Given the description of an element on the screen output the (x, y) to click on. 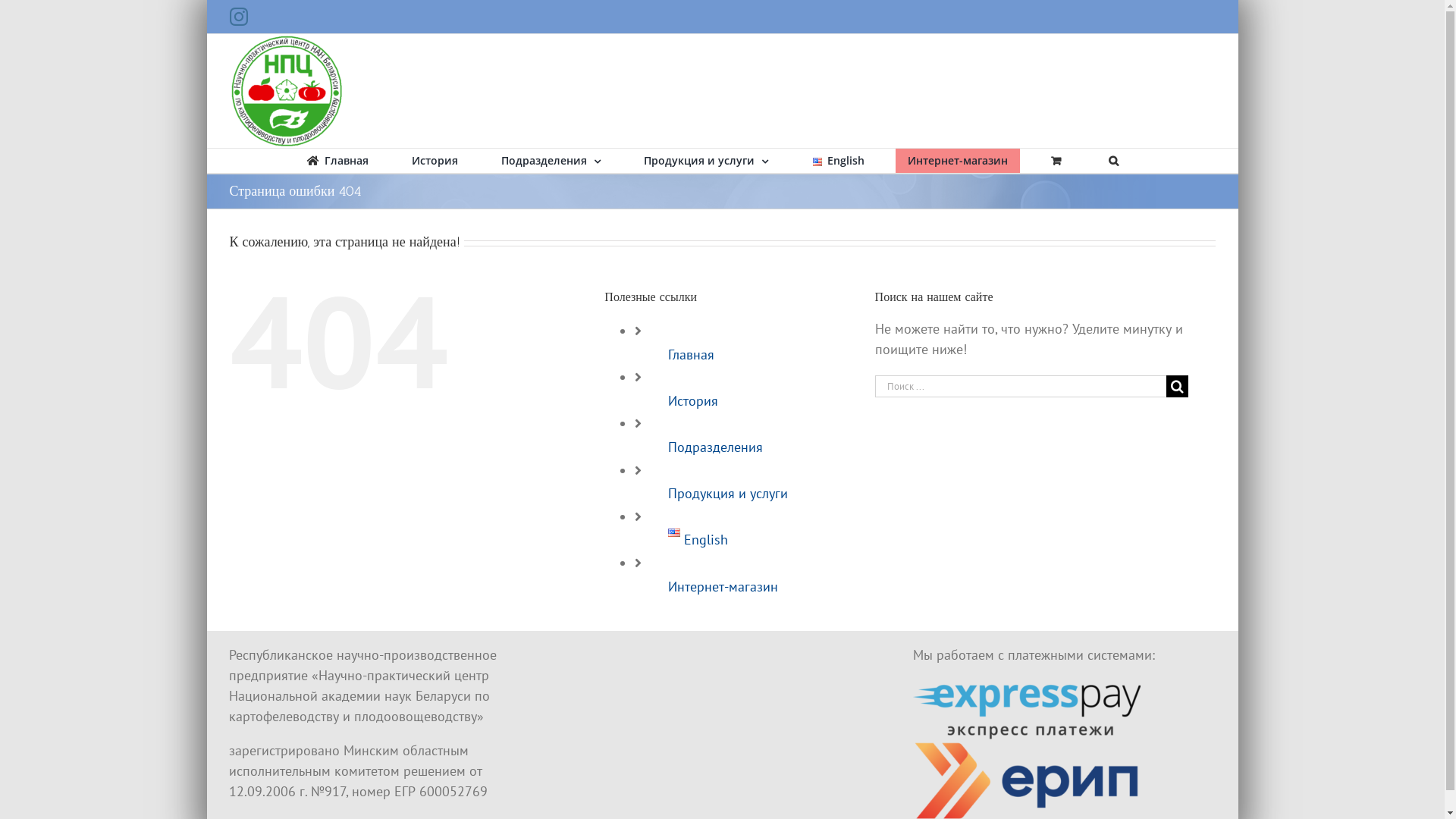
Instagram Element type: text (238, 16)
English Element type: text (837, 160)
English Element type: text (698, 539)
expresspay-logo Element type: hover (1026, 708)
